Given the description of an element on the screen output the (x, y) to click on. 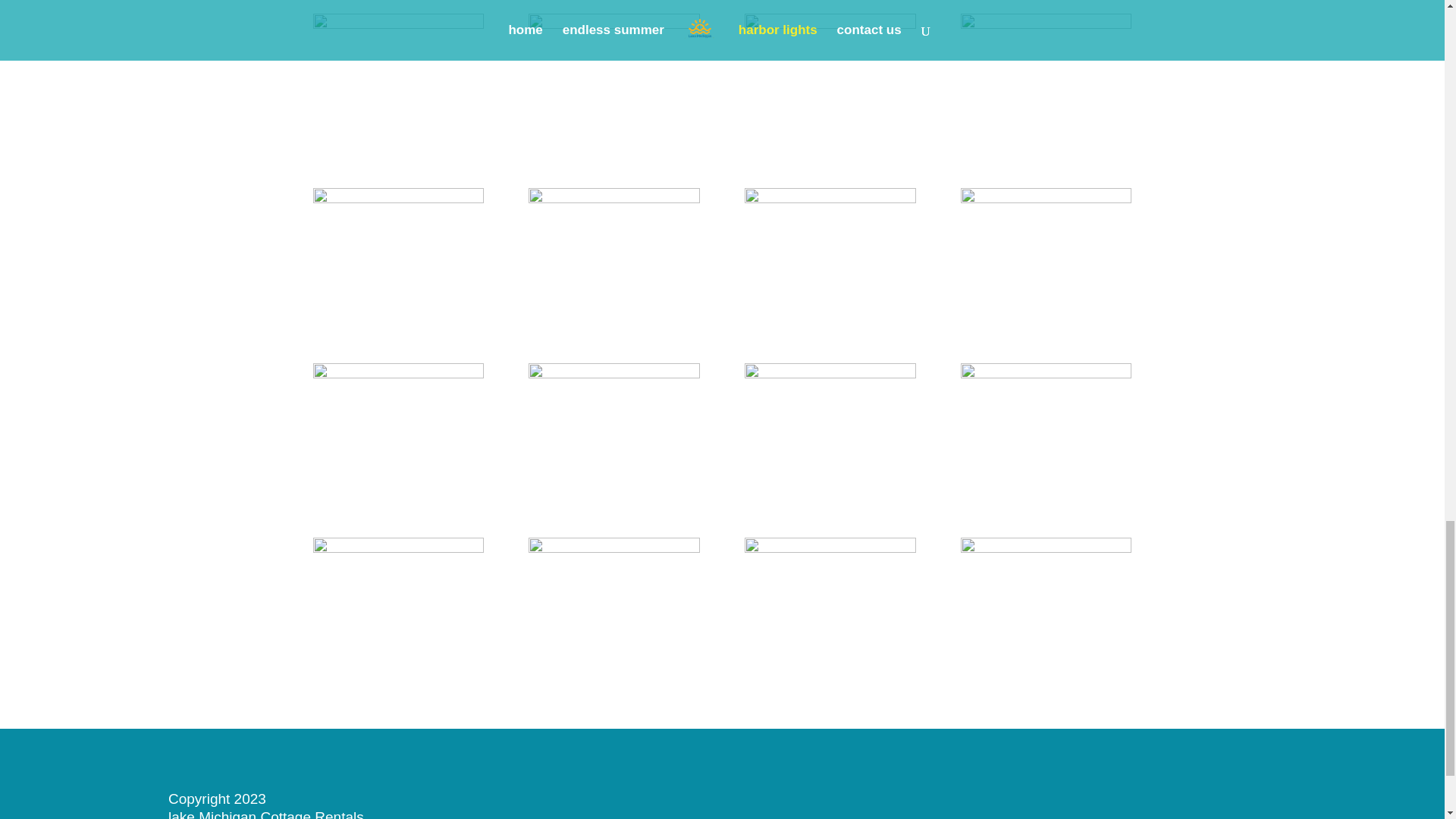
harborlts05-2014 (613, 24)
